Given the description of an element on the screen output the (x, y) to click on. 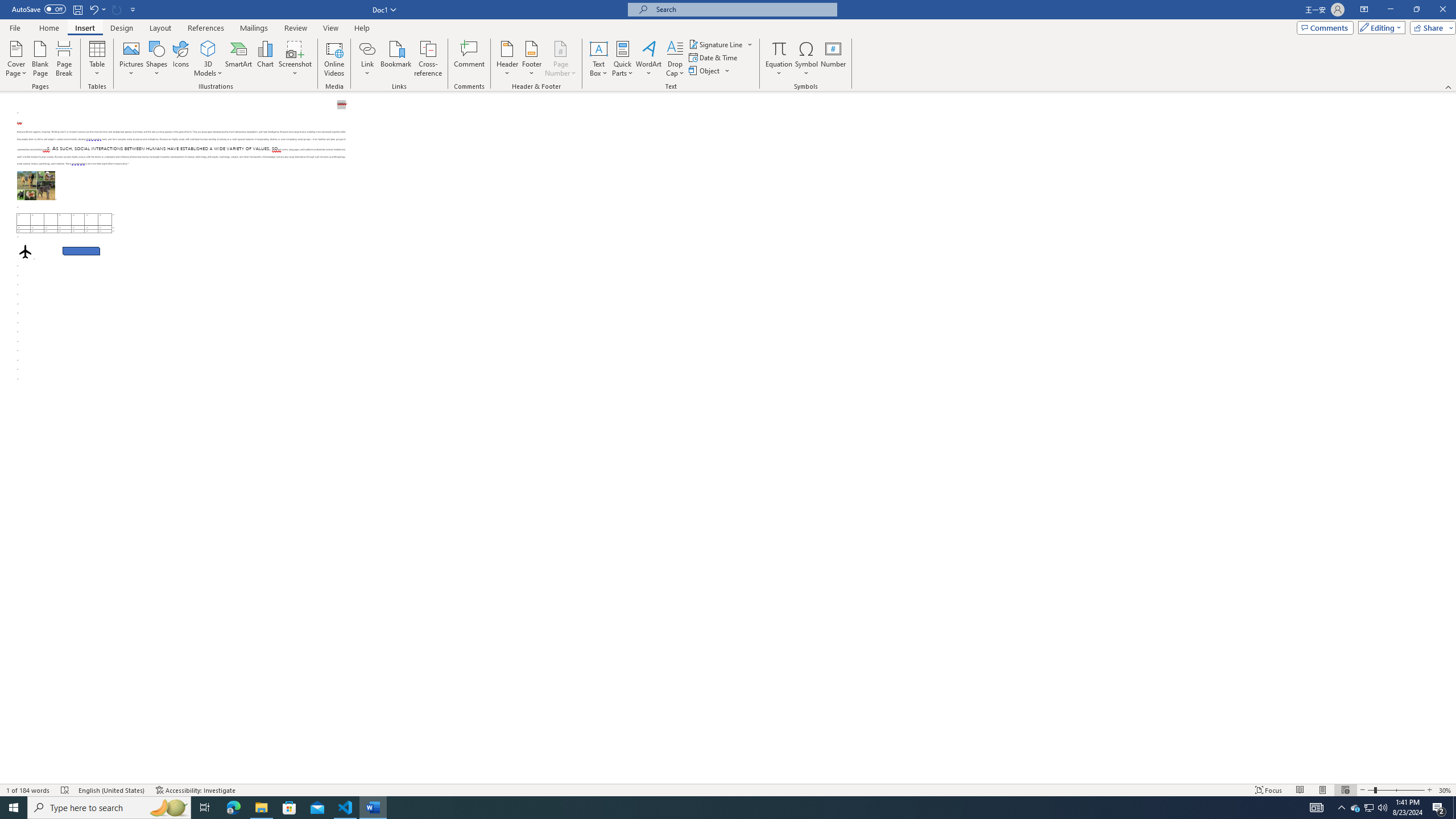
Minimize (1390, 9)
More Options (778, 68)
Accessibility Checker Accessibility: Investigate (195, 790)
Date & Time... (714, 56)
Equation (778, 48)
Layout (160, 28)
Quick Parts (622, 58)
Drop Cap (674, 58)
Zoom (1396, 790)
Footer (531, 58)
Page Number (560, 58)
SmartArt... (238, 58)
Zoom 30% (1445, 790)
Airplane with solid fill (25, 251)
Mailings (253, 28)
